Given the description of an element on the screen output the (x, y) to click on. 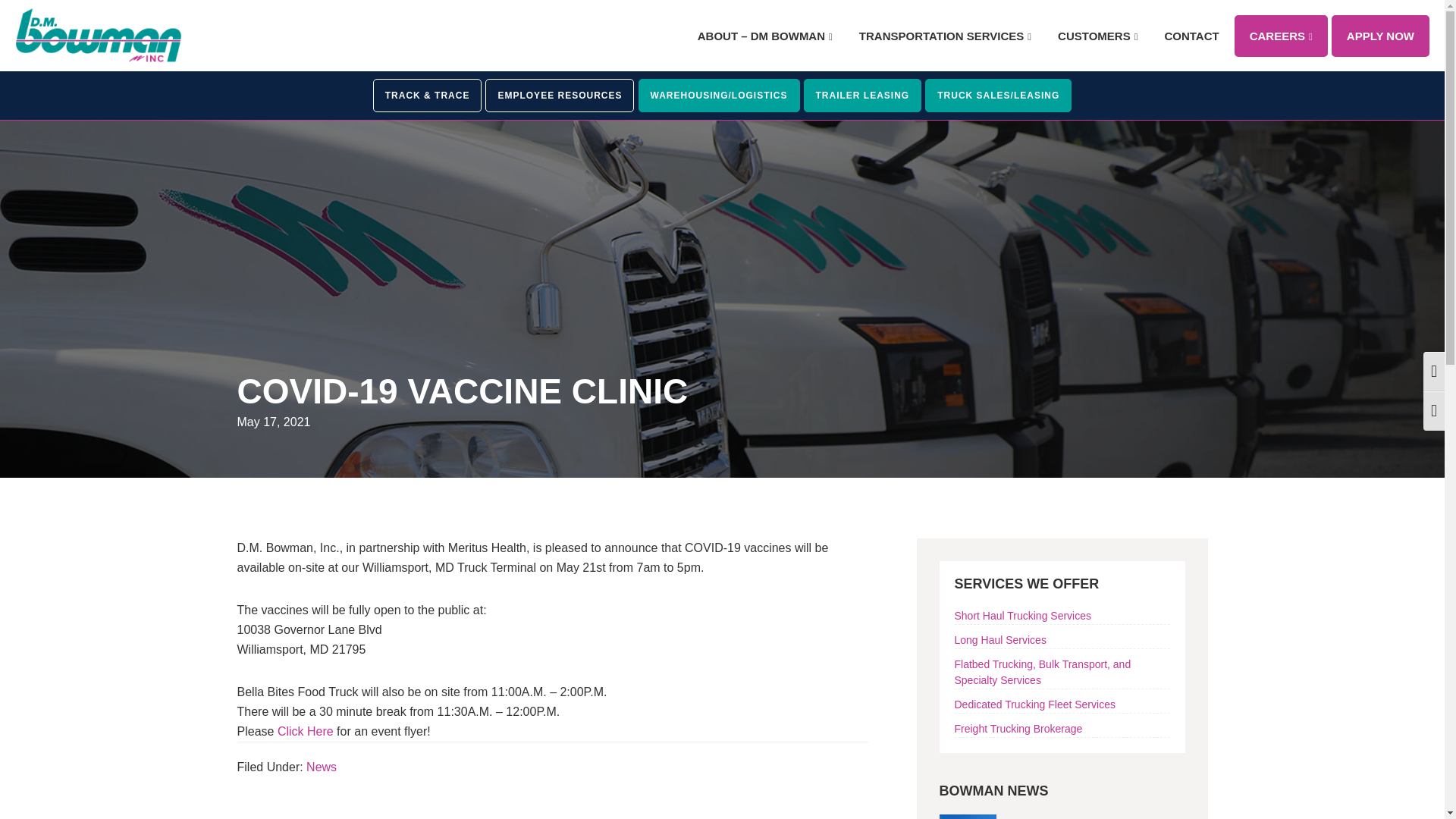
CAREERS (1280, 35)
CUSTOMERS (1097, 35)
CONTACT (1191, 35)
TRANSPORTATION SERVICES (944, 35)
